Given the description of an element on the screen output the (x, y) to click on. 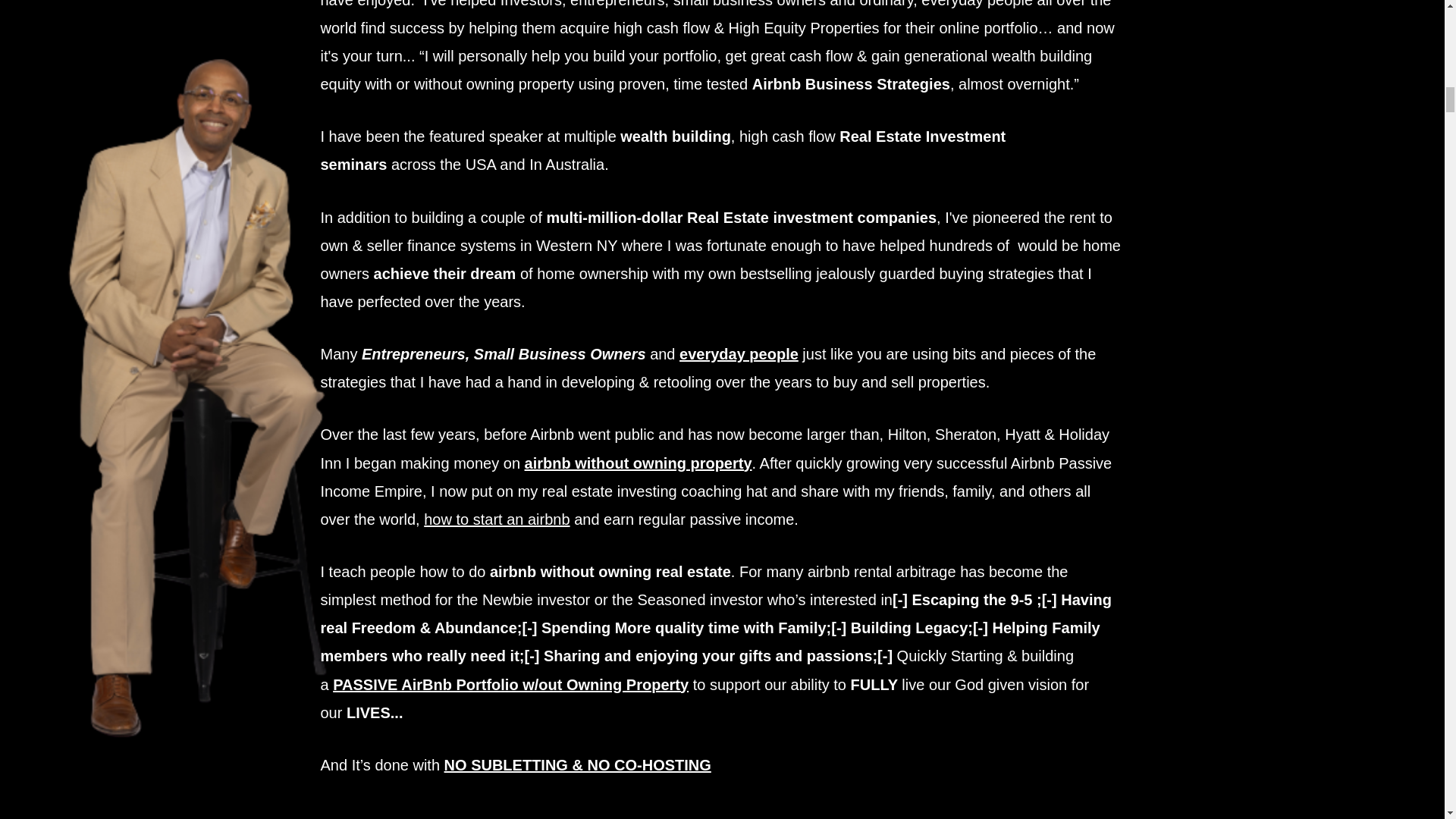
how to start an airbnb (496, 519)
